Given the description of an element on the screen output the (x, y) to click on. 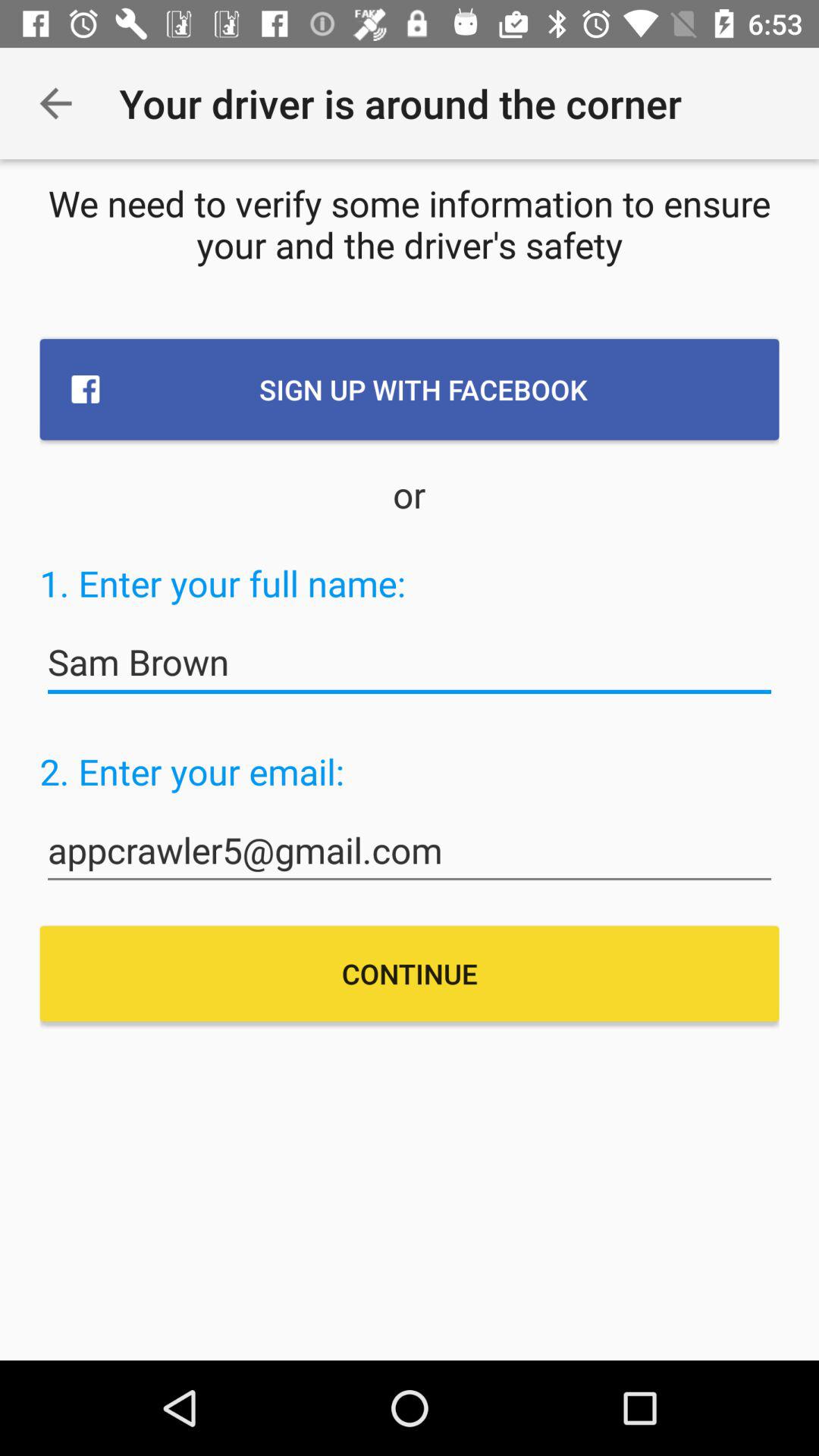
turn on the icon below the appcrawler5@gmail.com icon (409, 973)
